Given the description of an element on the screen output the (x, y) to click on. 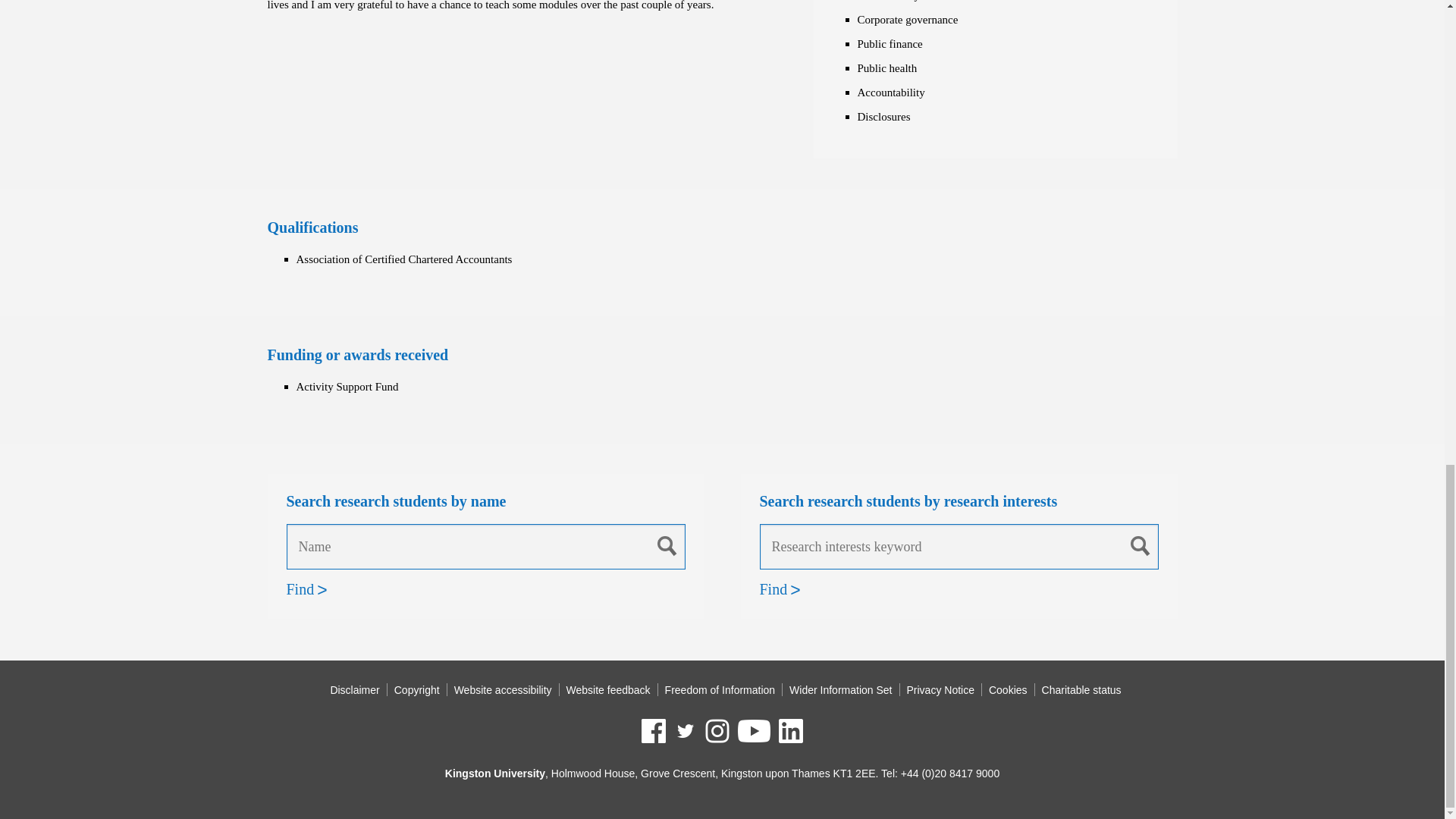
Find (773, 589)
Search (1140, 544)
Find (300, 589)
Search (667, 544)
